Given the description of an element on the screen output the (x, y) to click on. 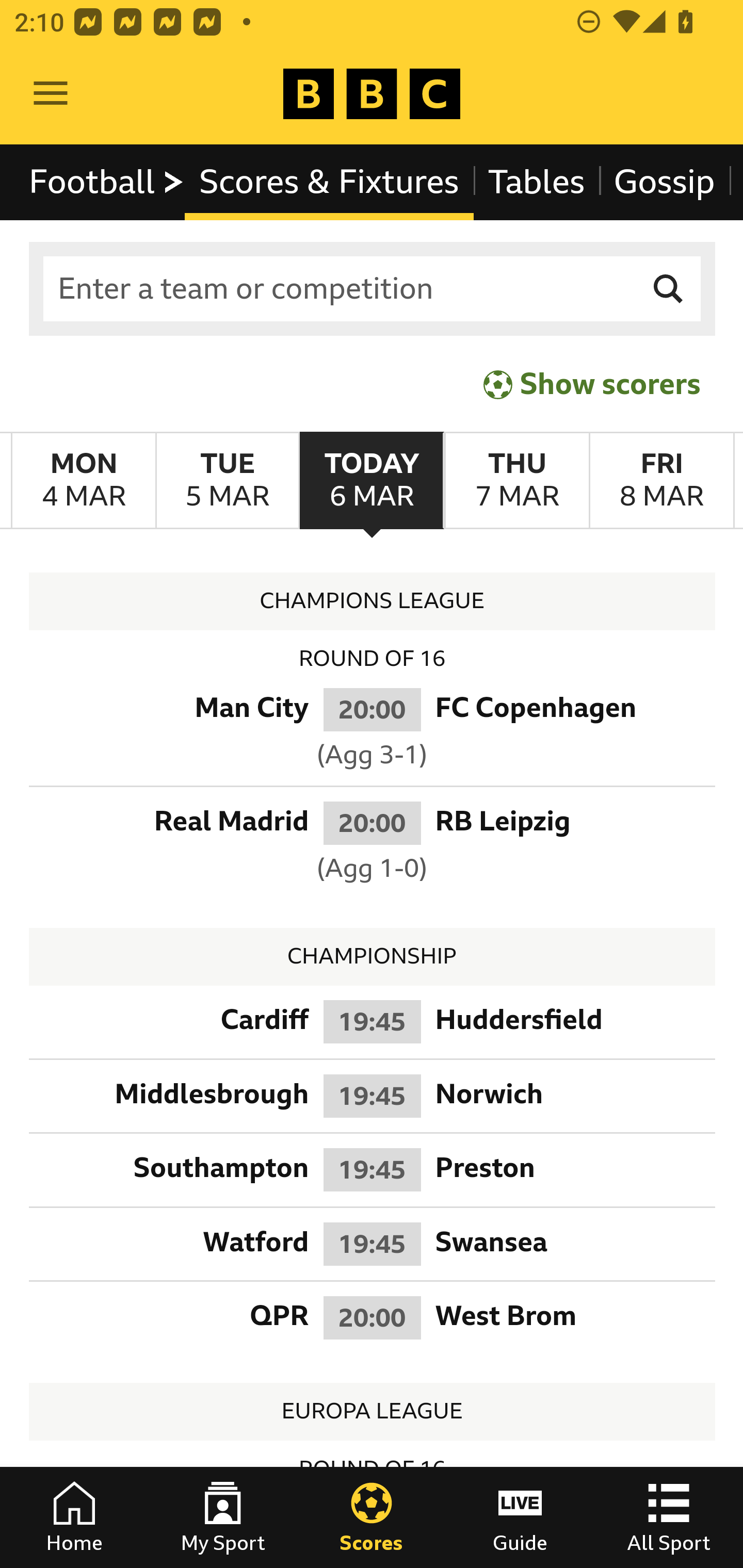
Open Menu (50, 93)
Football  (106, 181)
Scores & Fixtures (329, 181)
Tables (536, 181)
Gossip (664, 181)
Search (669, 289)
Show scorers (591, 383)
MondayMarch 4th Monday March 4th (83, 480)
TuesdayMarch 5th Tuesday March 5th (227, 480)
ThursdayMarch 7th Thursday March 7th (516, 480)
FridayMarch 8th Friday March 8th (661, 480)
Home (74, 1517)
My Sport (222, 1517)
Guide (519, 1517)
All Sport (668, 1517)
